Given the description of an element on the screen output the (x, y) to click on. 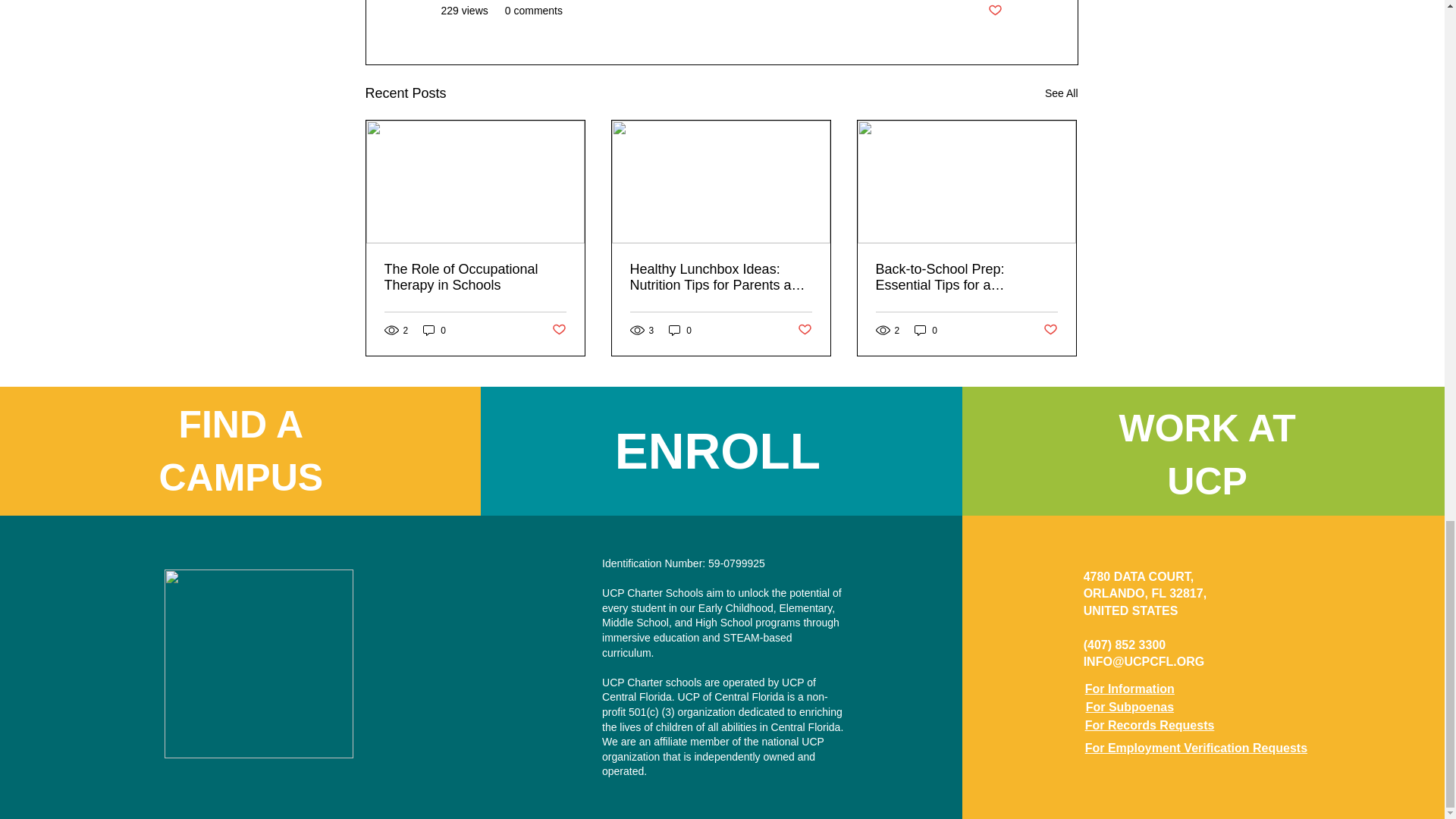
See All (1061, 93)
The Role of Occupational Therapy in Schools (475, 277)
Post not marked as liked (994, 10)
0 (434, 329)
Post not marked as liked (558, 330)
